Given the description of an element on the screen output the (x, y) to click on. 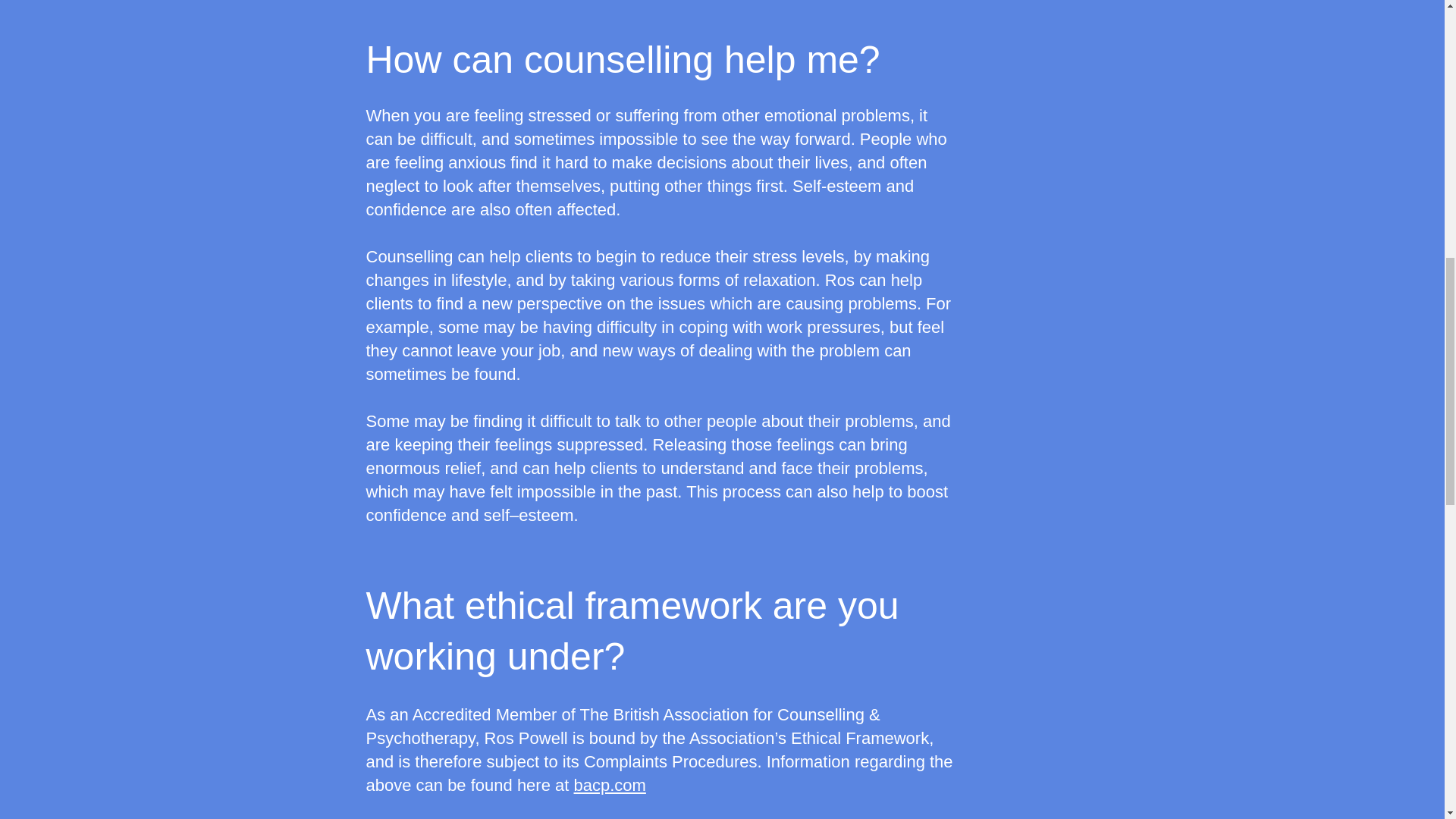
bacp.com (609, 784)
